Given the description of an element on the screen output the (x, y) to click on. 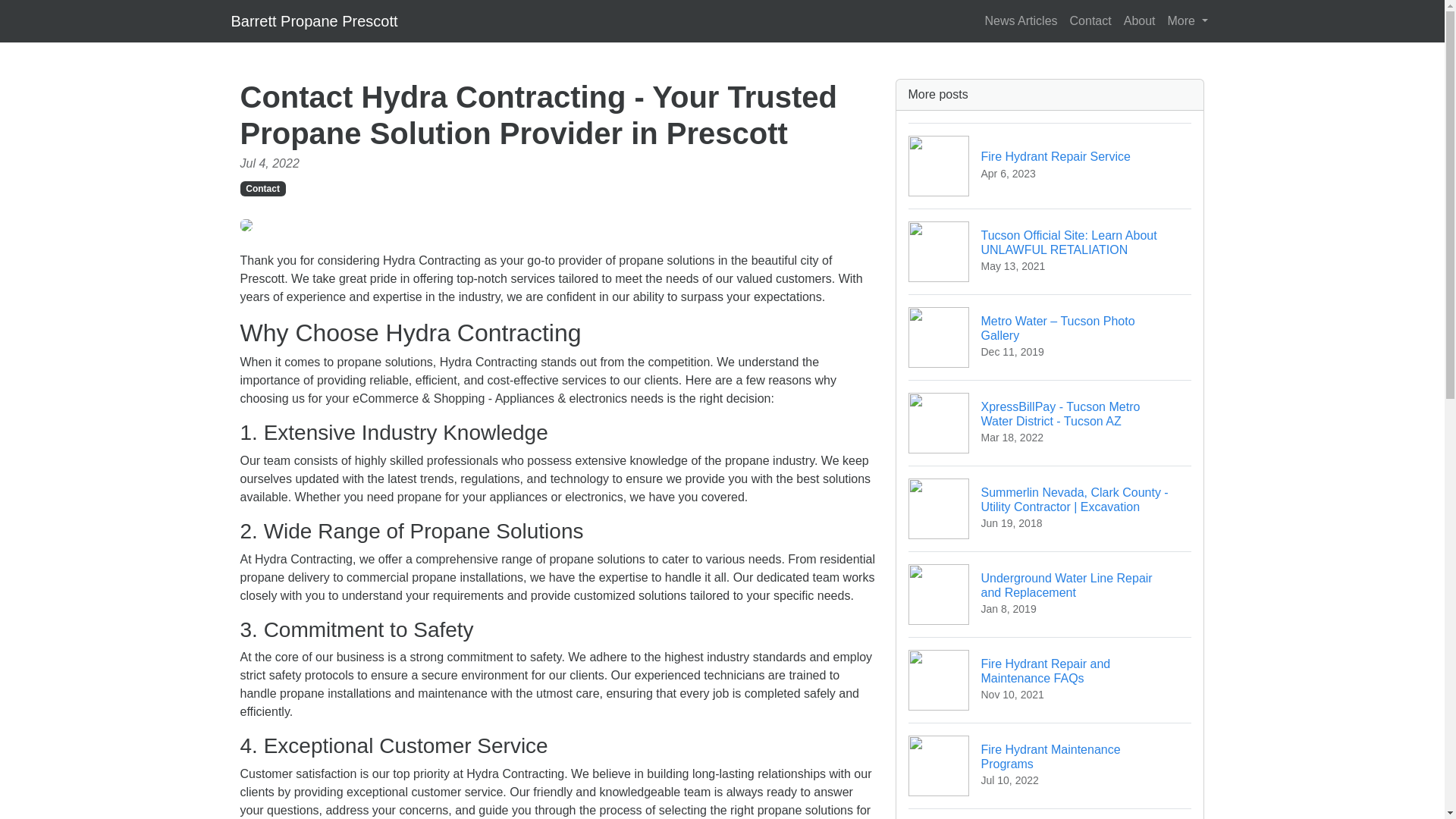
Contact (1050, 594)
More (262, 188)
News Articles (1187, 20)
Contact (1050, 765)
Barrett Propane Prescott (1050, 165)
